Given the description of an element on the screen output the (x, y) to click on. 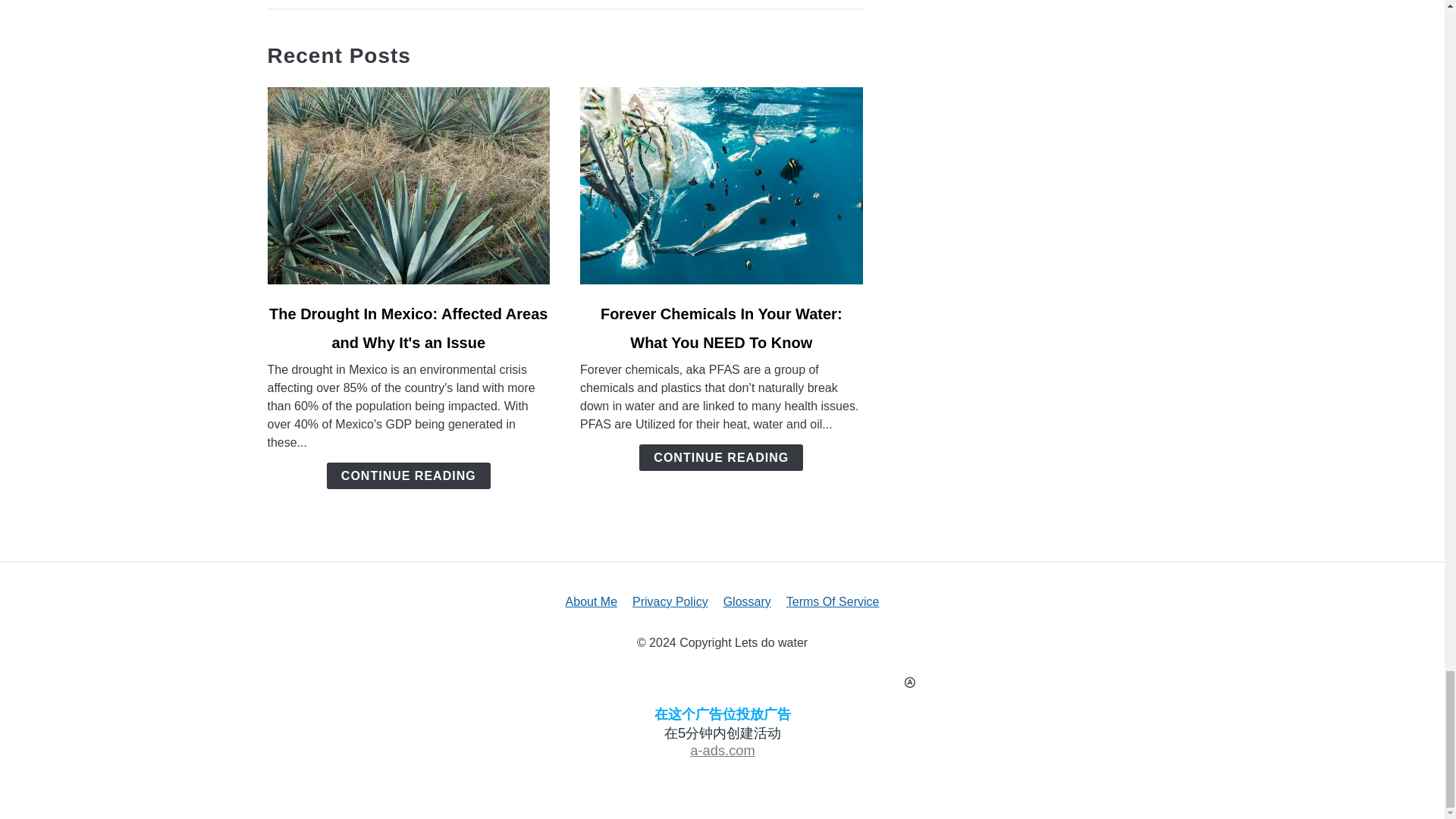
About Me (591, 601)
Terms Of Service (832, 601)
CONTINUE READING (408, 475)
The Drought In Mexico: Affected Areas and Why It's an Issue (408, 328)
Forever Chemicals In Your Water: What You NEED To Know (721, 328)
Privacy Policy (669, 601)
Glossary (747, 601)
CONTINUE READING (721, 457)
